Given the description of an element on the screen output the (x, y) to click on. 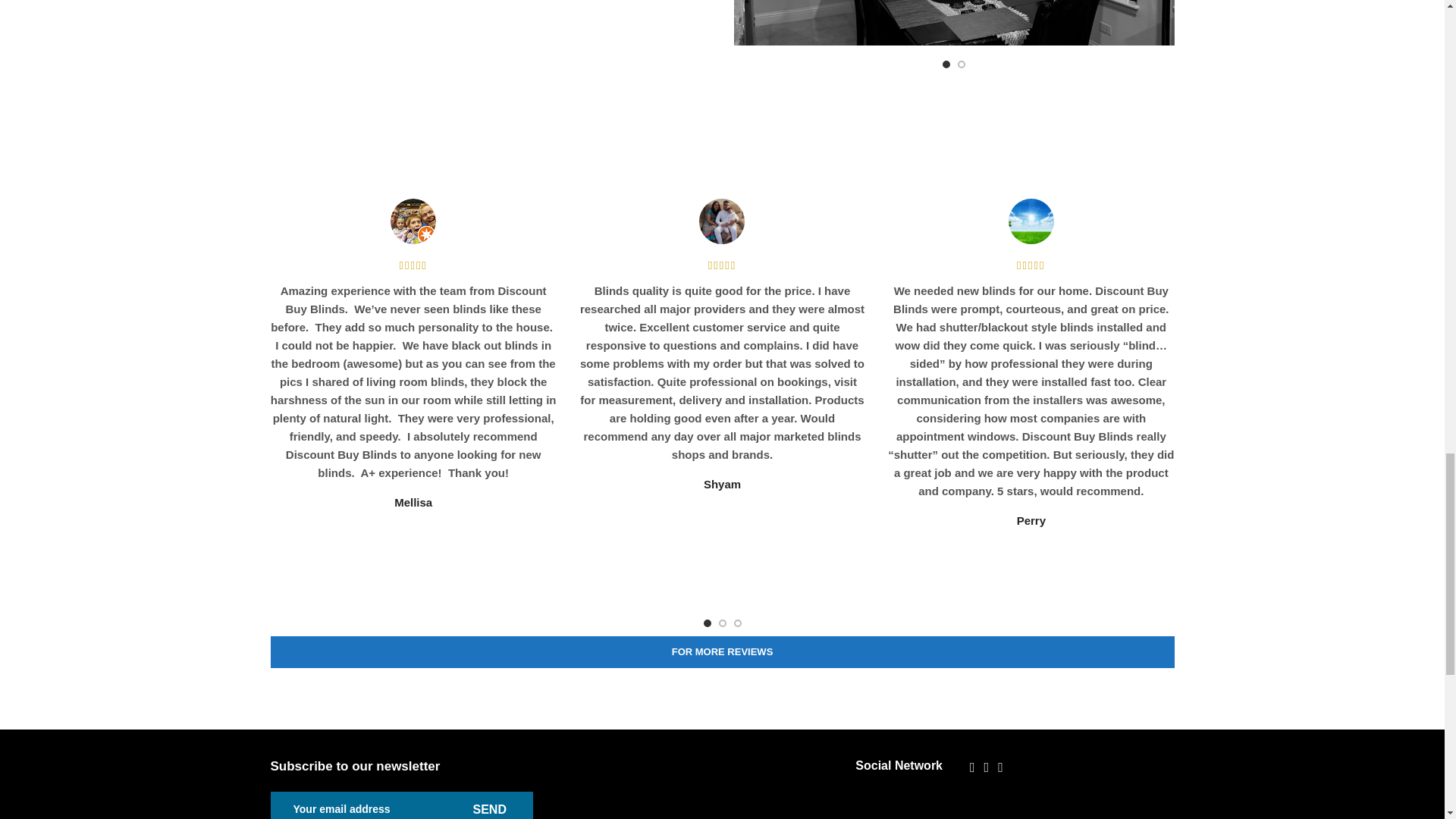
unnamed (412, 221)
send (488, 805)
Before (953, 22)
shyam (721, 221)
5bae36b9c94786eaa4603766a98fee42 (1031, 221)
